Given the description of an element on the screen output the (x, y) to click on. 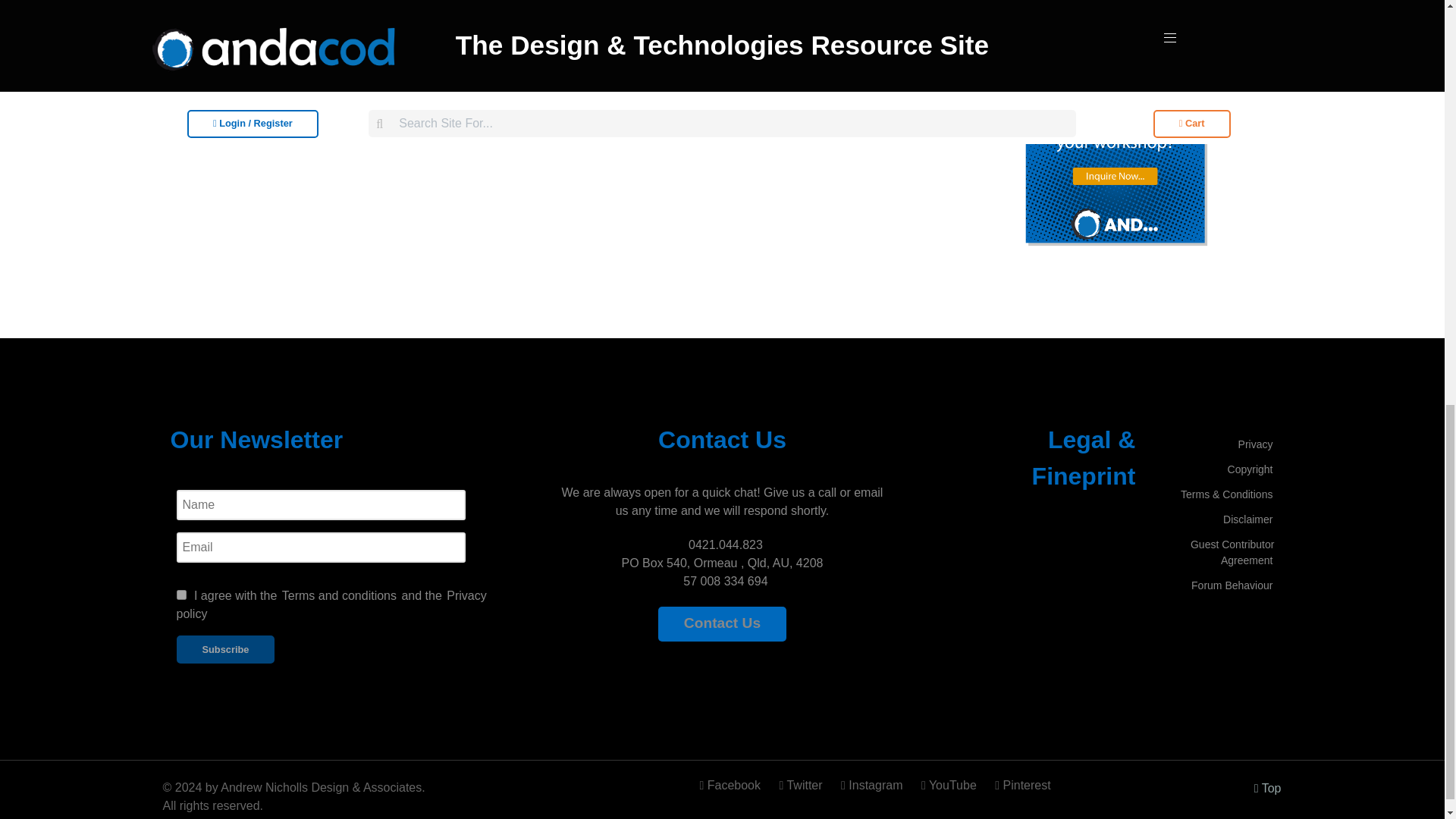
Forum Behaviour (1231, 585)
Twitter (801, 784)
YouTube (950, 784)
Subscribe (225, 649)
Facebook (734, 784)
Guest Contributor Agreement (1232, 552)
Instagram (873, 784)
Disclaimer (1247, 519)
Copyright (1250, 468)
Terms and conditions (181, 594)
